Given the description of an element on the screen output the (x, y) to click on. 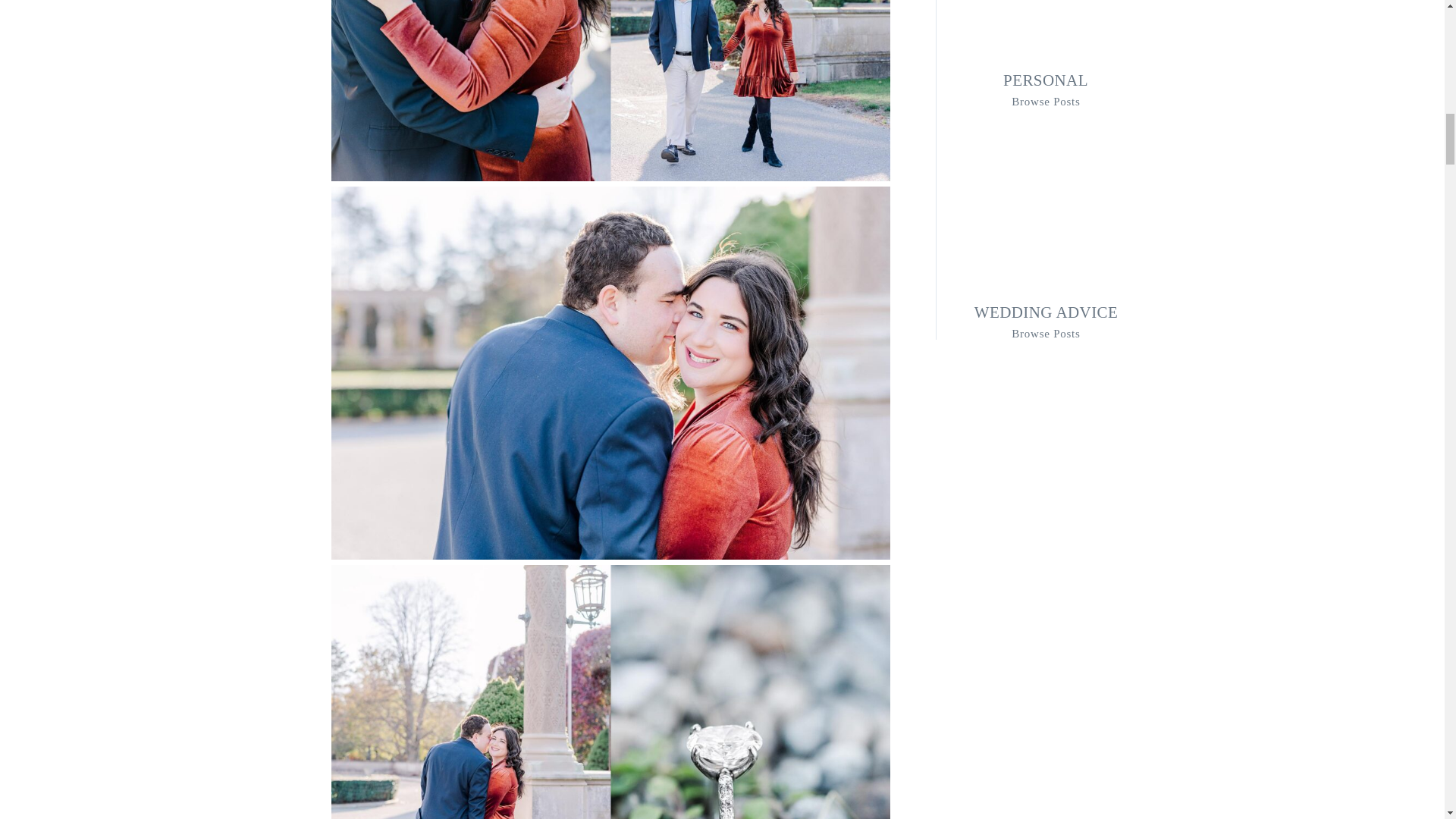
Browse Posts (1046, 332)
Browse Posts (1046, 100)
PERSONAL (1044, 79)
WEDDING ADVICE (1045, 311)
